Given the description of an element on the screen output the (x, y) to click on. 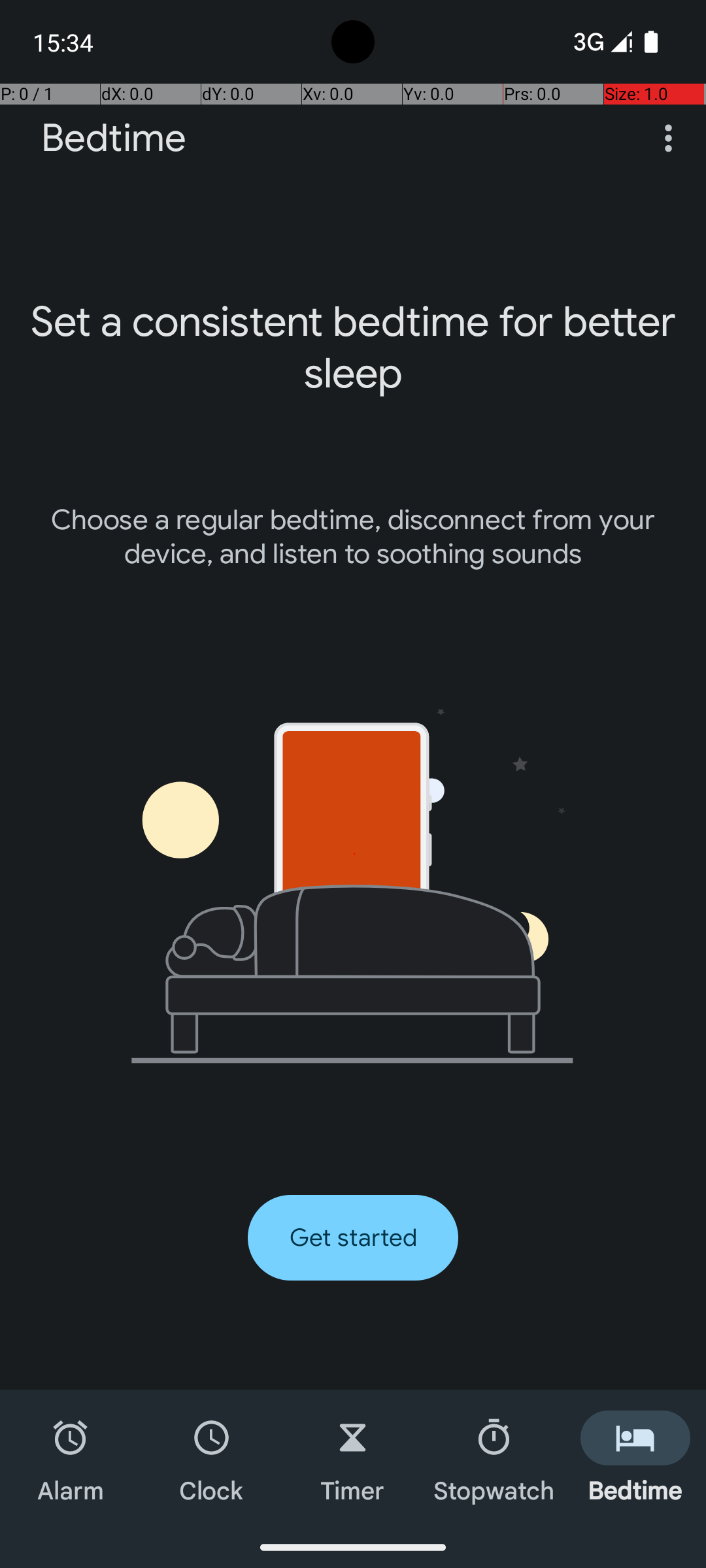
Set a consistent bedtime for better sleep Element type: android.widget.TextView (352, 347)
Choose a regular bedtime, disconnect from your device, and listen to soothing sounds Element type: android.widget.TextView (352, 536)
